Given the description of an element on the screen output the (x, y) to click on. 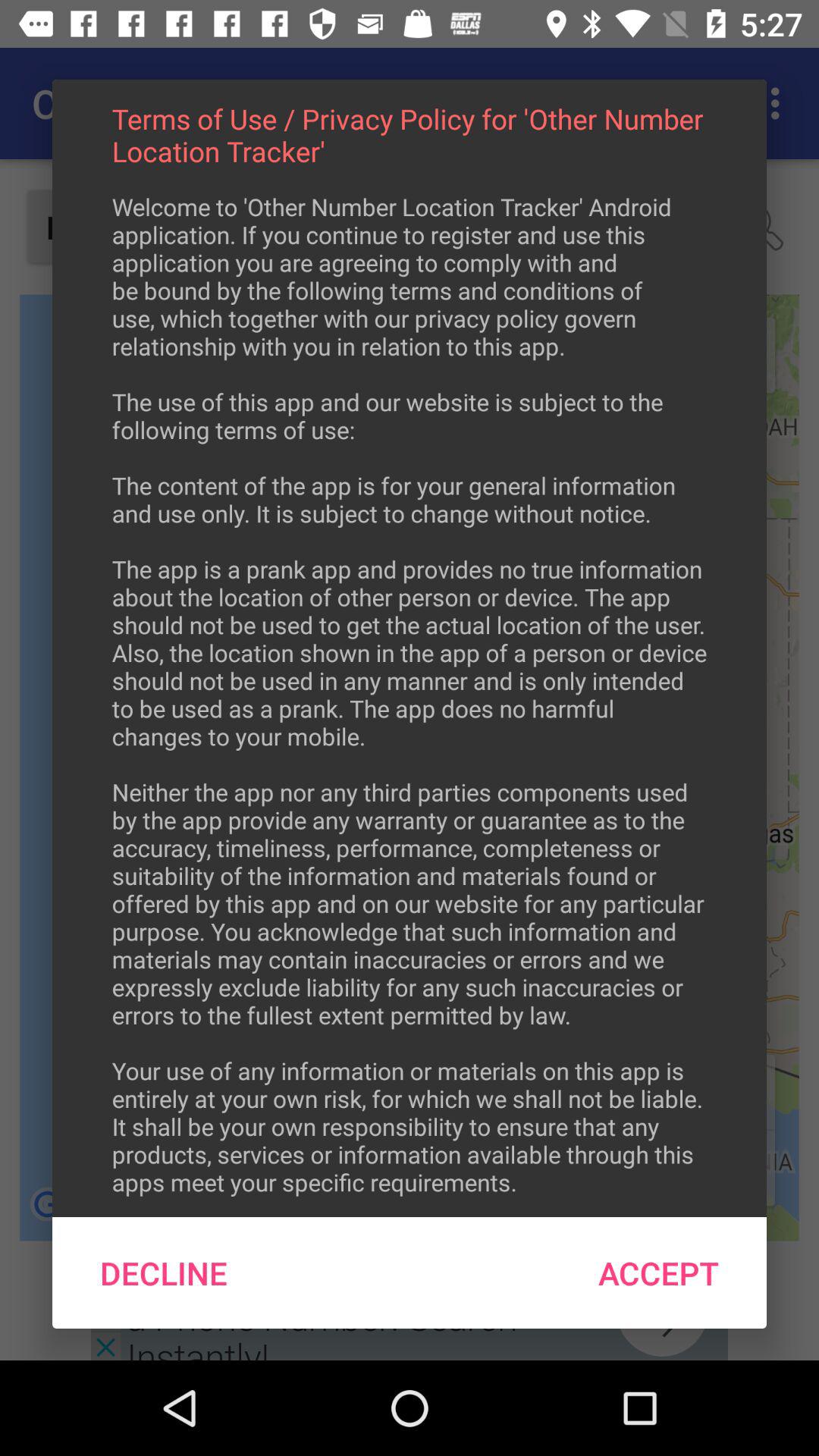
press icon to the right of the decline icon (658, 1272)
